Given the description of an element on the screen output the (x, y) to click on. 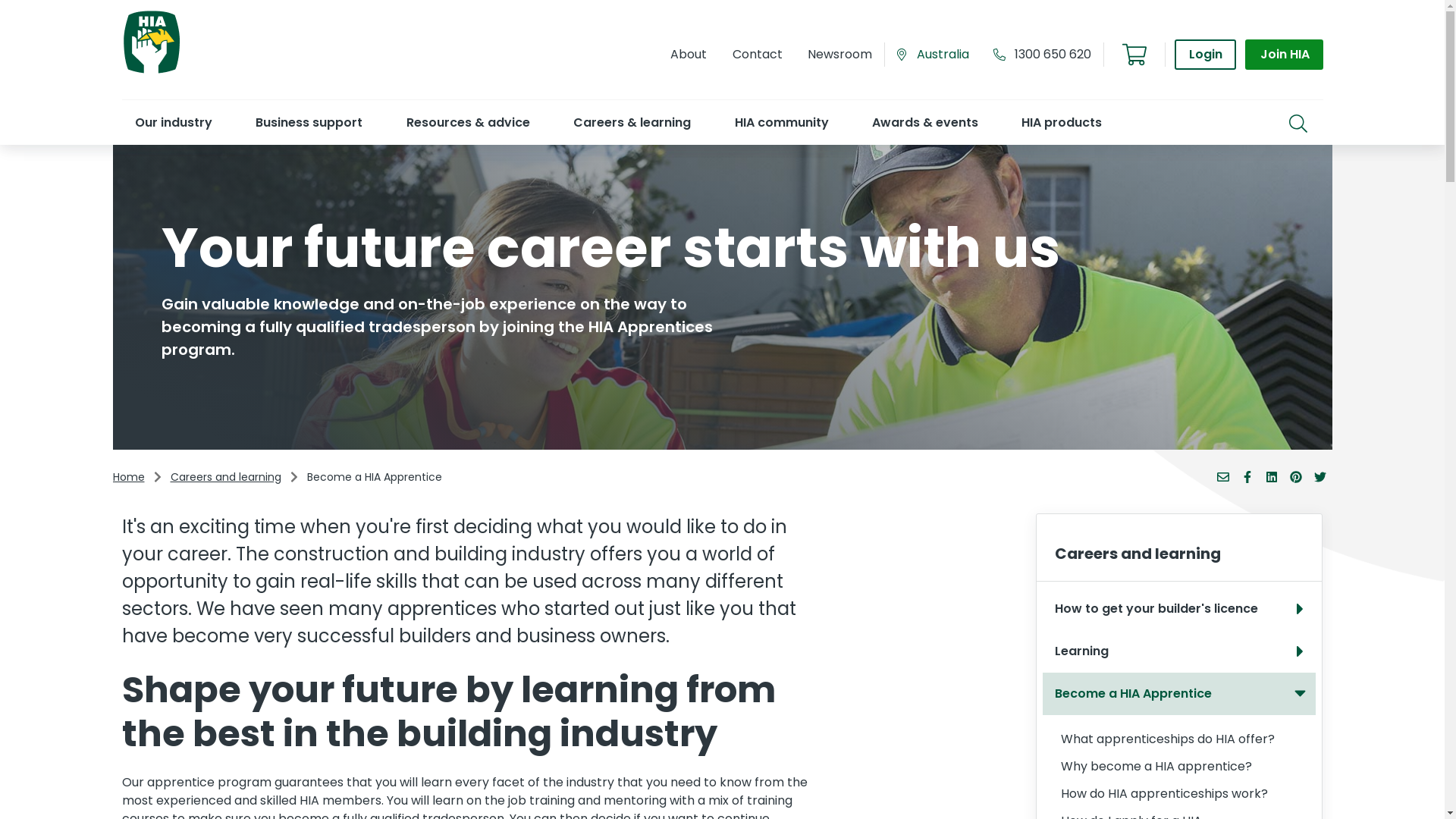
Newsroom Element type: text (839, 53)
HIA community Element type: text (780, 122)
Become a HIA Apprentice Element type: text (1178, 693)
Join HIA Element type: text (1283, 54)
Careers and learning Element type: text (224, 477)
Our industry Element type: text (172, 122)
About Element type: text (687, 53)
1300 650 620 Element type: text (1052, 53)
Business support Element type: text (308, 122)
Become a HIA Apprentice Element type: text (1175, 693)
Login Element type: text (1205, 54)
Contact Element type: text (755, 53)
Learning Element type: text (1175, 651)
How to get your builder's licence Element type: text (1178, 608)
How do HIA apprenticeships work? Element type: text (1178, 793)
Become a HIA Apprentice Element type: text (373, 477)
How to get your builder's licence Element type: text (1175, 608)
What apprenticeships do HIA offer? Element type: text (1178, 739)
Australia Element type: text (938, 54)
Home Element type: text (128, 477)
HIA products Element type: text (1060, 122)
Why become a HIA apprentice? Element type: text (1178, 766)
Learning Element type: text (1178, 651)
Careers & learning Element type: text (631, 122)
Resources & advice Element type: text (466, 122)
Awards & events Element type: text (924, 122)
HIA homepage Element type: hover (150, 71)
